Given the description of an element on the screen output the (x, y) to click on. 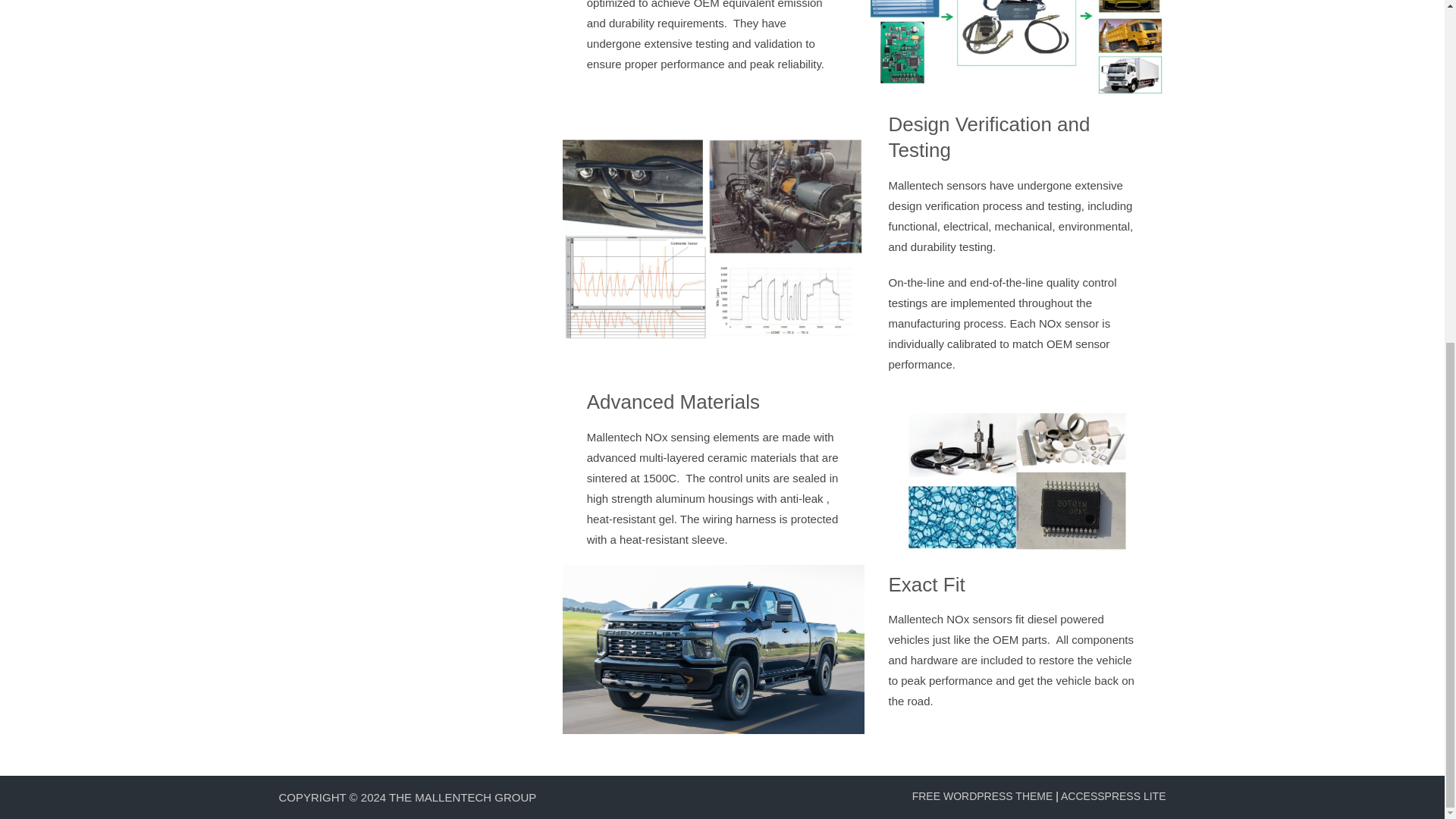
AccessPress Themes (1113, 796)
ACCESSPRESS LITE (1113, 796)
FREE WORDPRESS THEME (982, 796)
